Given the description of an element on the screen output the (x, y) to click on. 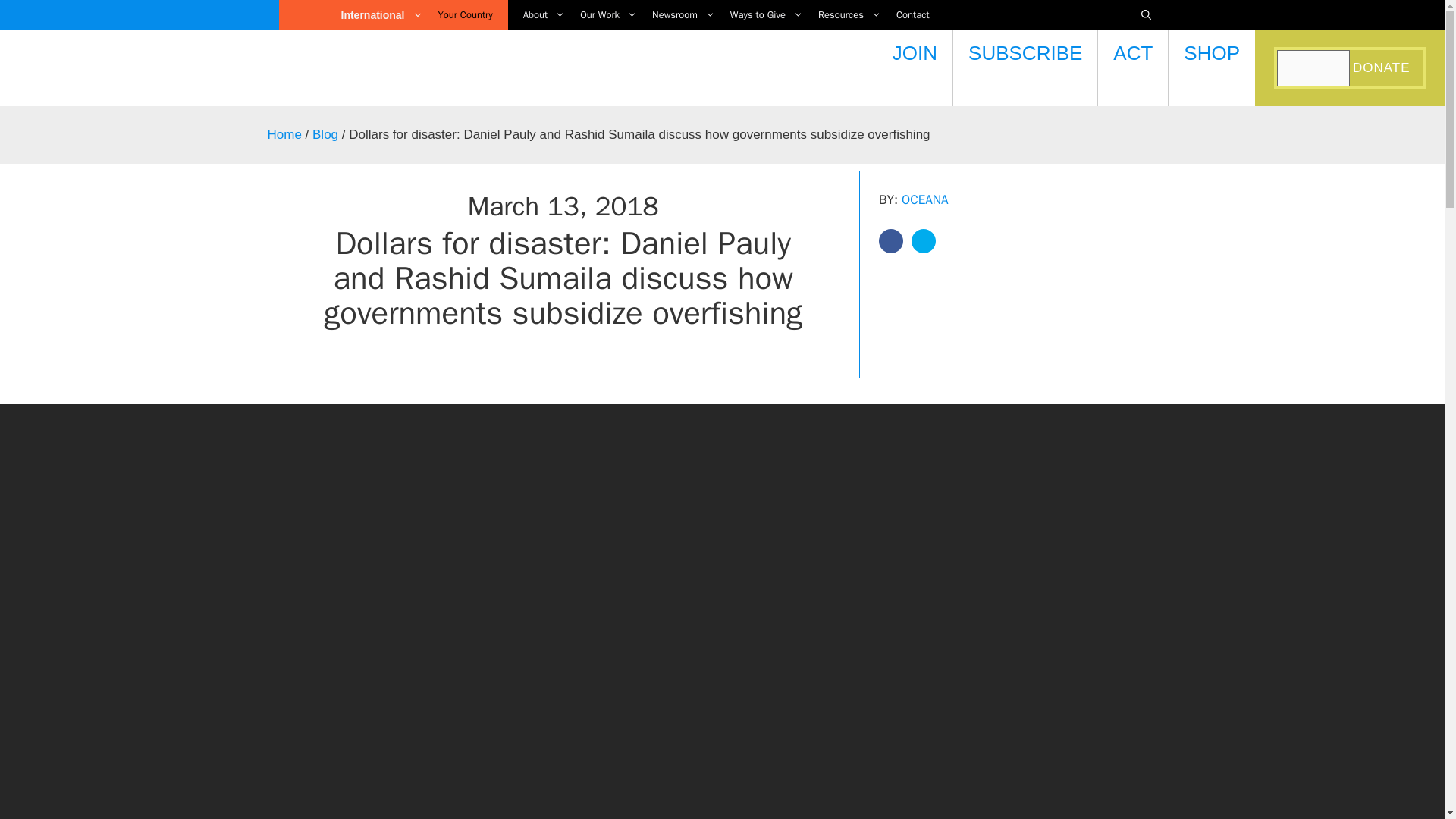
Our Work (600, 15)
DONATE (1382, 67)
About (536, 15)
Your Country (465, 15)
International (381, 15)
